Given the description of an element on the screen output the (x, y) to click on. 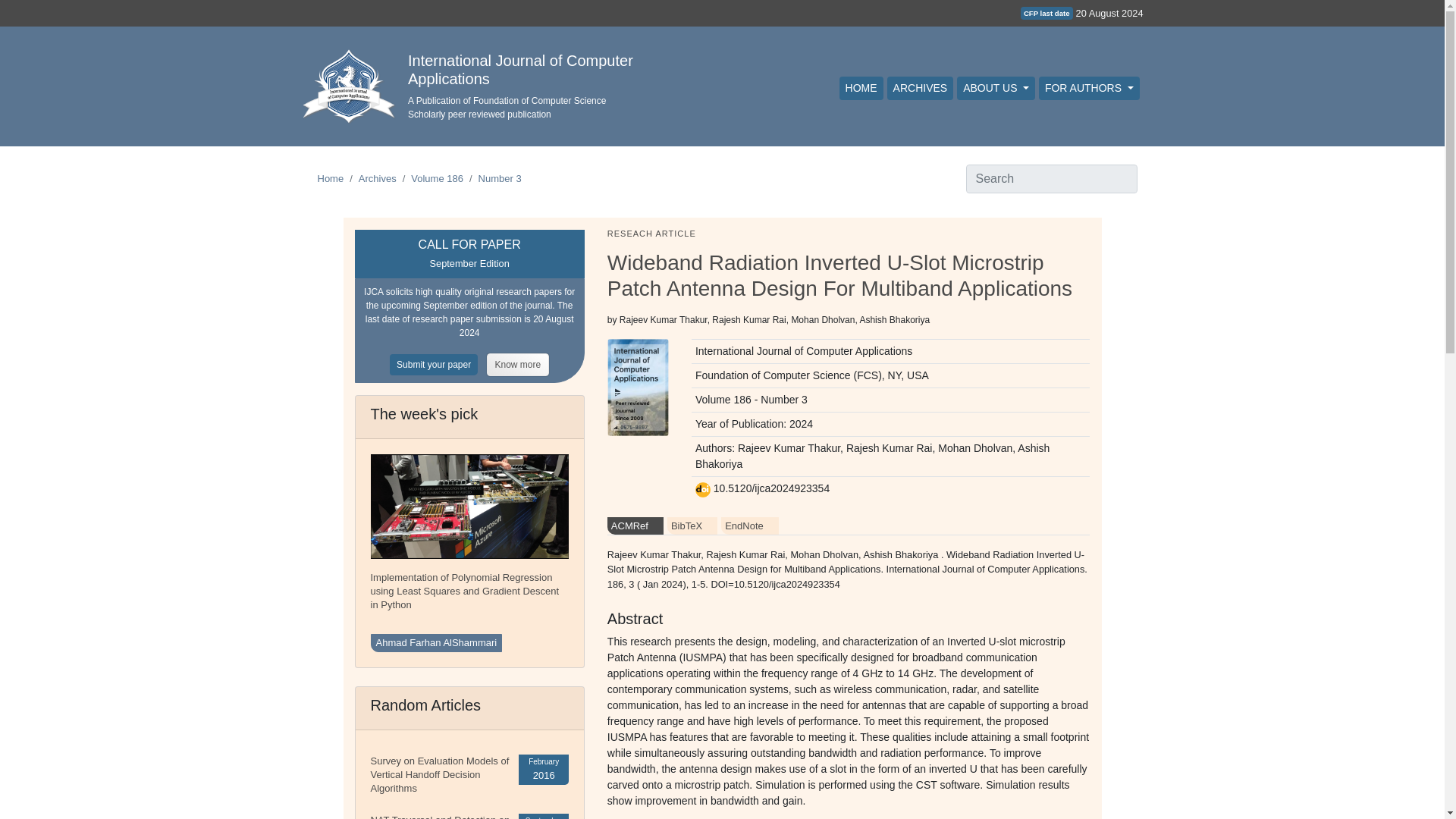
BibTeX (691, 525)
Volume 186 (436, 178)
Submit your paper (438, 363)
Know more (518, 363)
FOR AUTHORS (1089, 87)
EndNote (749, 525)
Ahmad Farhan AlShammari (435, 642)
Archives (377, 178)
Home (330, 178)
ABOUT US (995, 87)
Number 3 (500, 178)
ARCHIVES (919, 87)
